Given the description of an element on the screen output the (x, y) to click on. 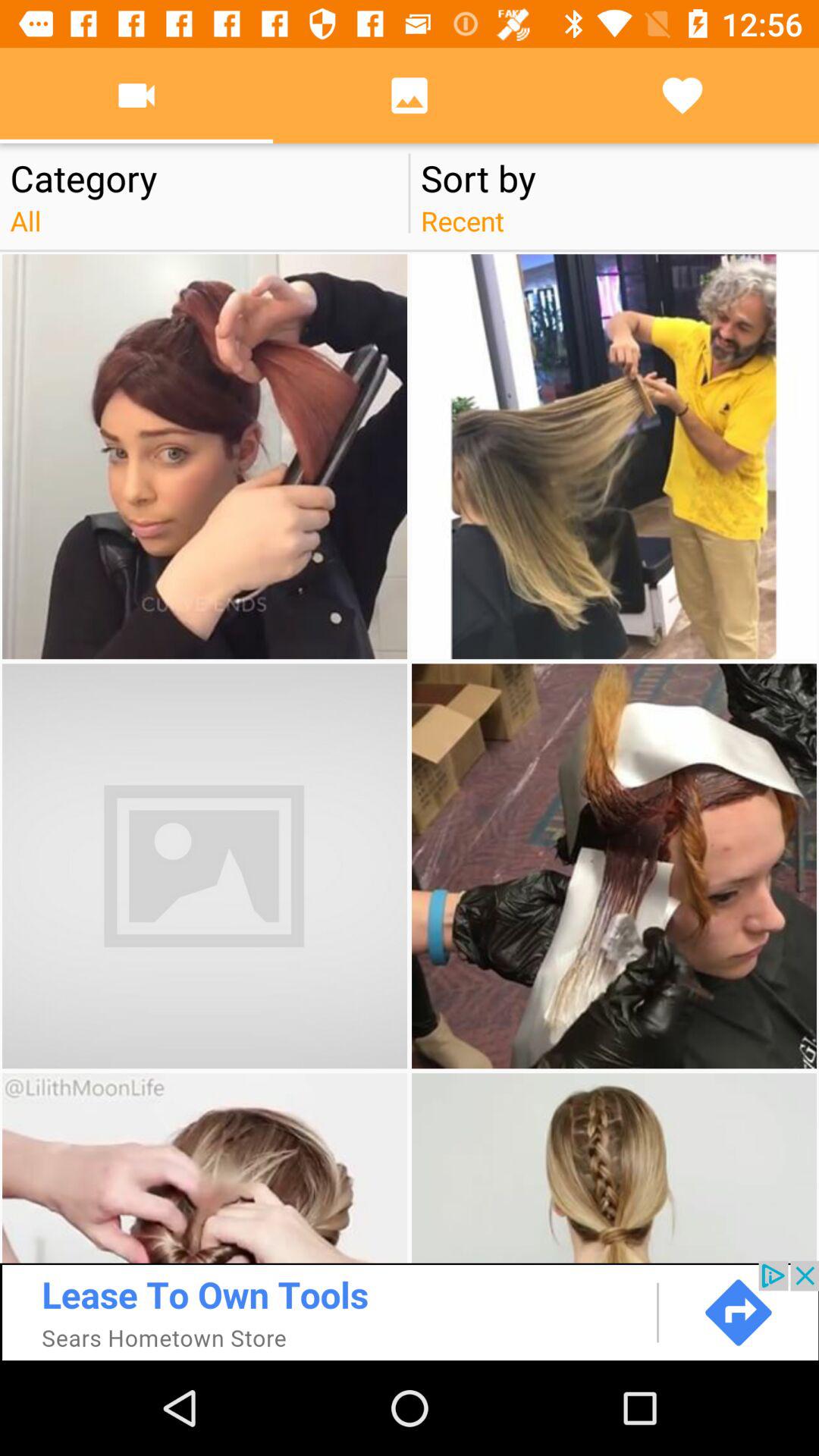
open advert (409, 1310)
